Given the description of an element on the screen output the (x, y) to click on. 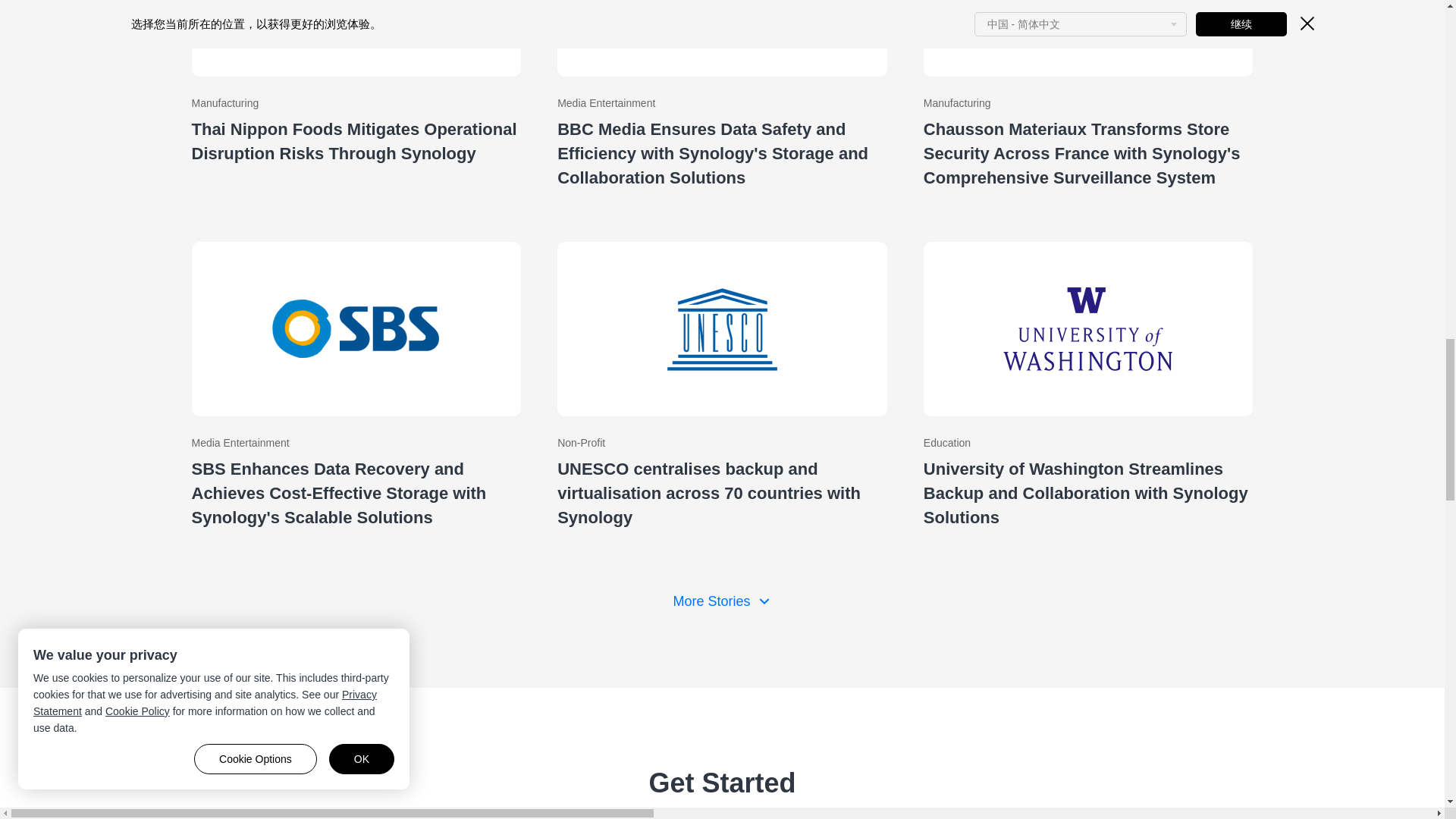
KR SBS (355, 385)
UNESCO (721, 385)
BBC Media Action (721, 104)
TH ThaiNipponFoods (355, 104)
University of Washington (1088, 385)
Chausson Materiaux (1088, 104)
